Given the description of an element on the screen output the (x, y) to click on. 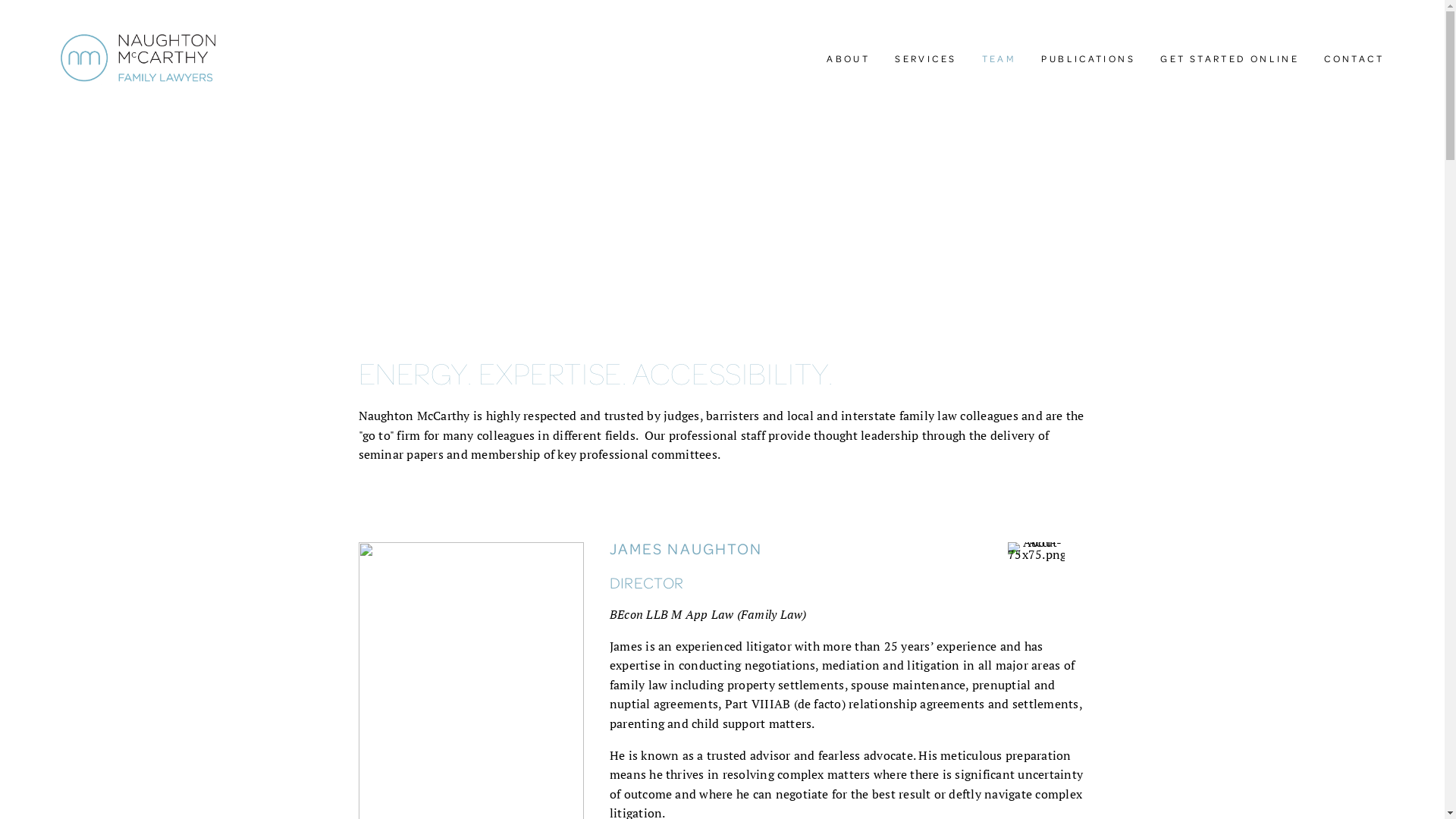
PUBLICATIONS Element type: text (1088, 58)
CONTACT Element type: text (1353, 58)
SERVICES Element type: text (925, 58)
GET STARTED ONLINE Element type: text (1229, 58)
TEAM Element type: text (999, 58)
ABOUT Element type: text (847, 58)
